Given the description of an element on the screen output the (x, y) to click on. 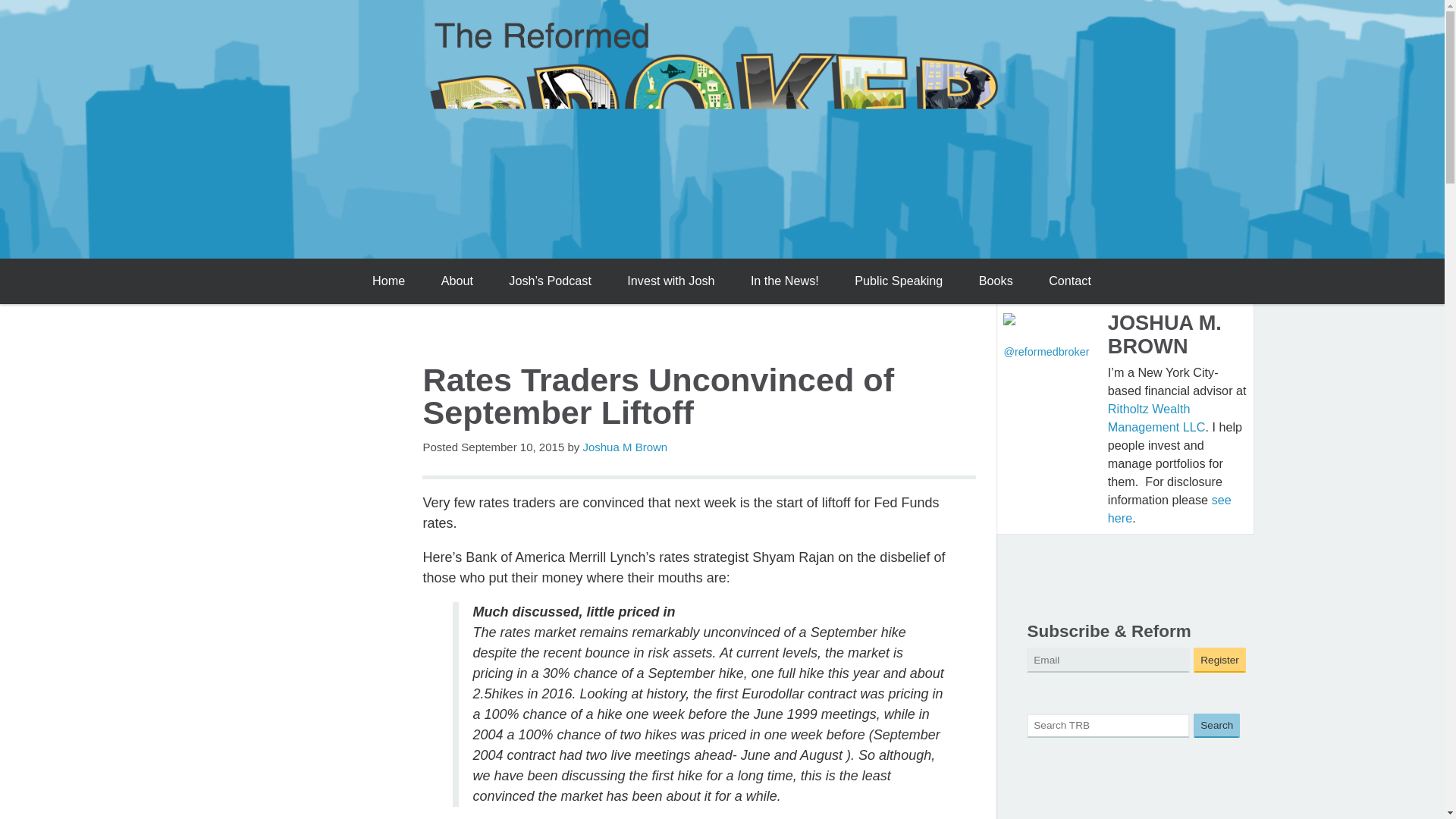
Public Speaking (899, 280)
Register (1218, 659)
Invest with Josh (670, 280)
Posts by Joshua M Brown (624, 446)
Books (995, 280)
Home (388, 280)
Contact (1069, 280)
About (456, 280)
In the News! (784, 280)
Search (1216, 725)
